Given the description of an element on the screen output the (x, y) to click on. 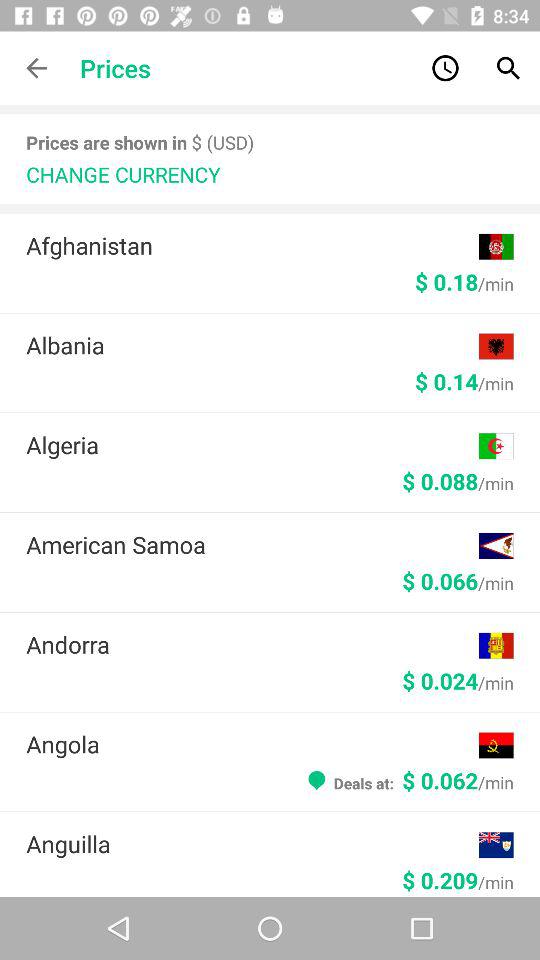
jump until angola (252, 744)
